Given the description of an element on the screen output the (x, y) to click on. 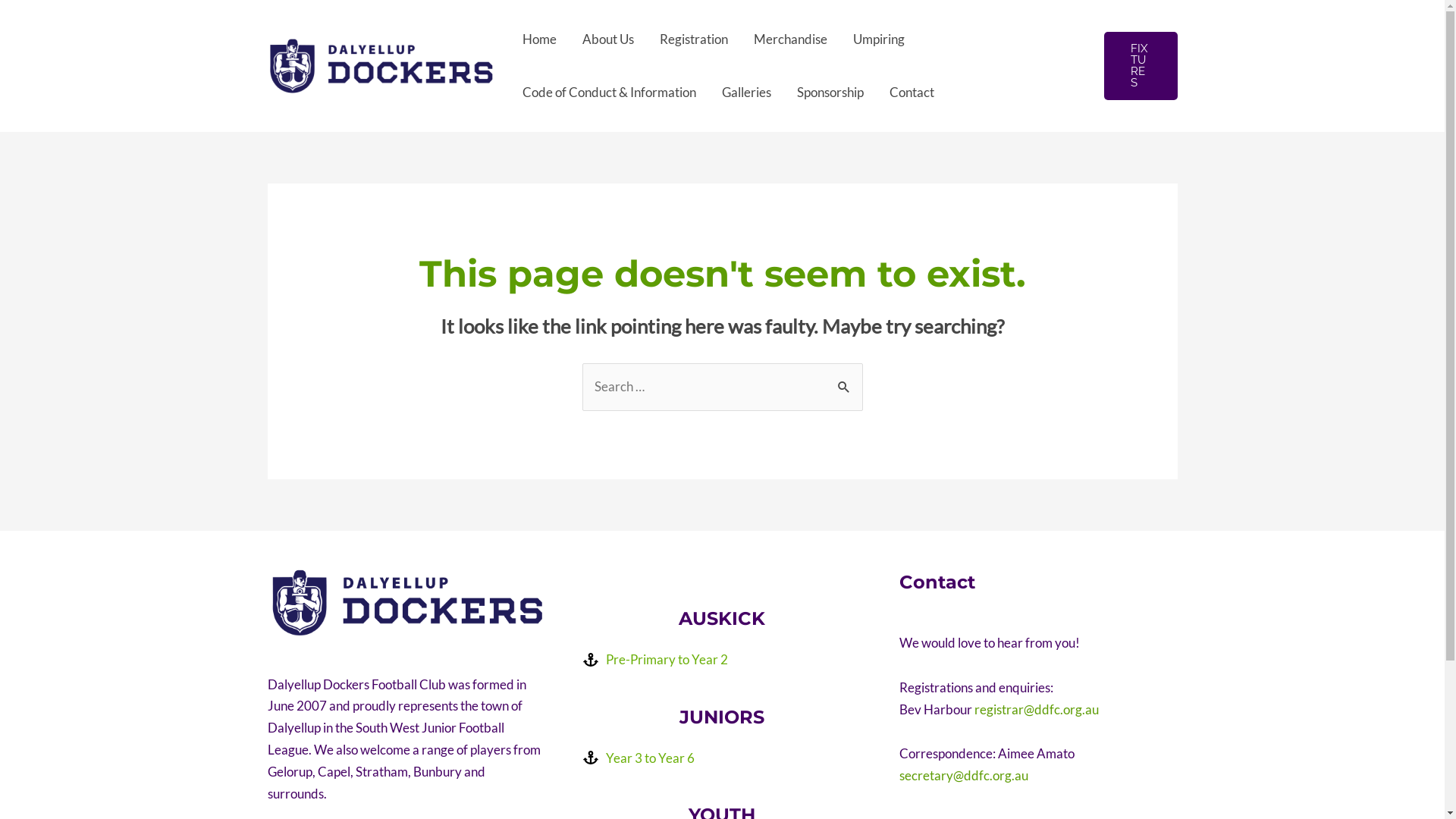
Home Element type: text (539, 38)
registrar@ddfc.org.au Element type: text (1036, 709)
Contact Element type: text (911, 92)
Umpiring Element type: text (878, 38)
Search Element type: text (845, 378)
secretary@ddfc.org.au Element type: text (963, 775)
Code of Conduct & Information Element type: text (609, 92)
Merchandise Element type: text (789, 38)
Sponsorship Element type: text (830, 92)
Pre-Primary to Year 2 Element type: text (655, 659)
About Us Element type: text (607, 38)
Registration Element type: text (693, 38)
Galleries Element type: text (745, 92)
FIXTURES Element type: text (1140, 65)
Year 3 to Year 6 Element type: text (638, 757)
